Given the description of an element on the screen output the (x, y) to click on. 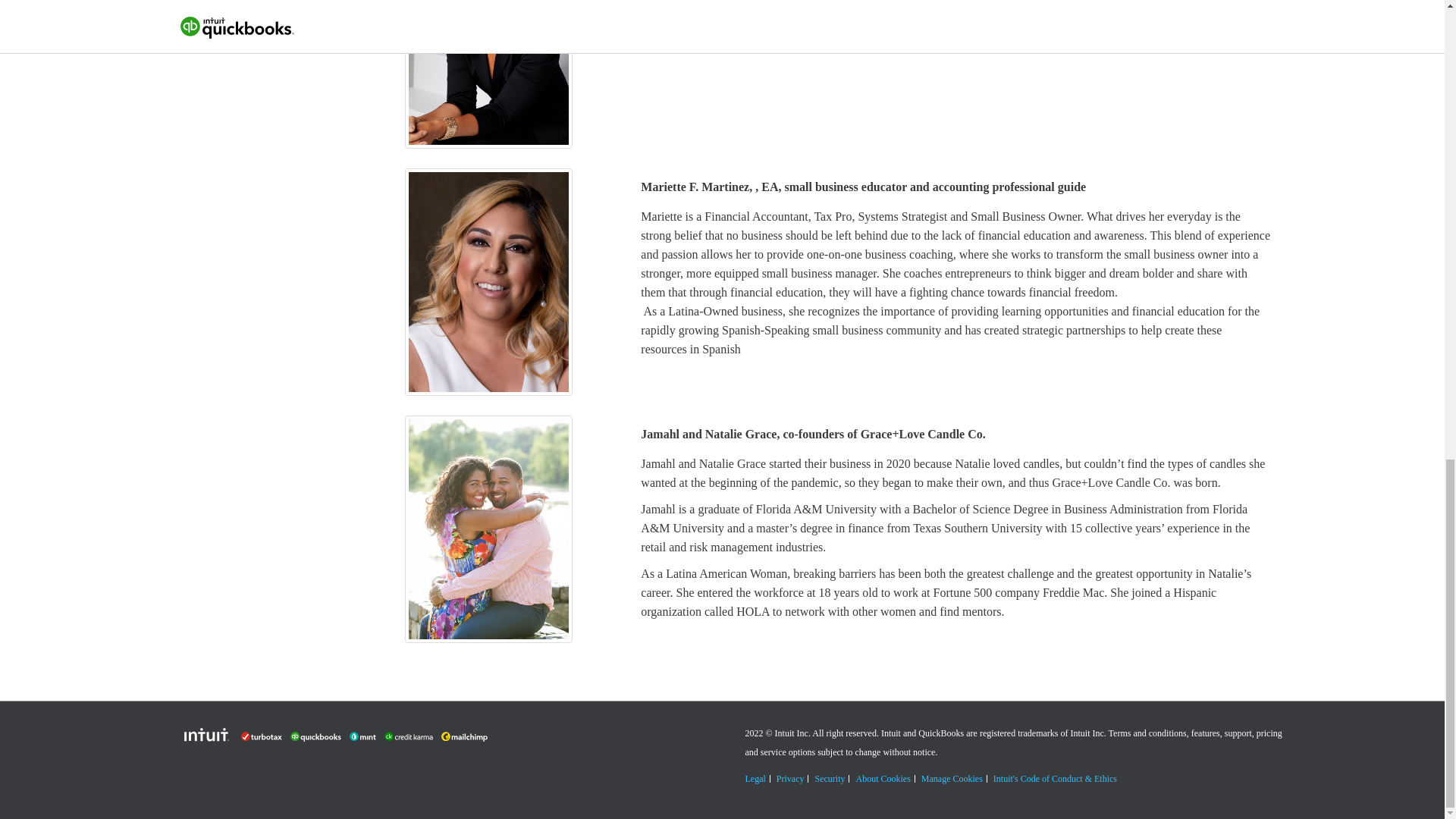
Manage Cookies (951, 778)
About Cookies (883, 778)
Legal (754, 778)
Privacy (790, 778)
Security (828, 778)
